Given the description of an element on the screen output the (x, y) to click on. 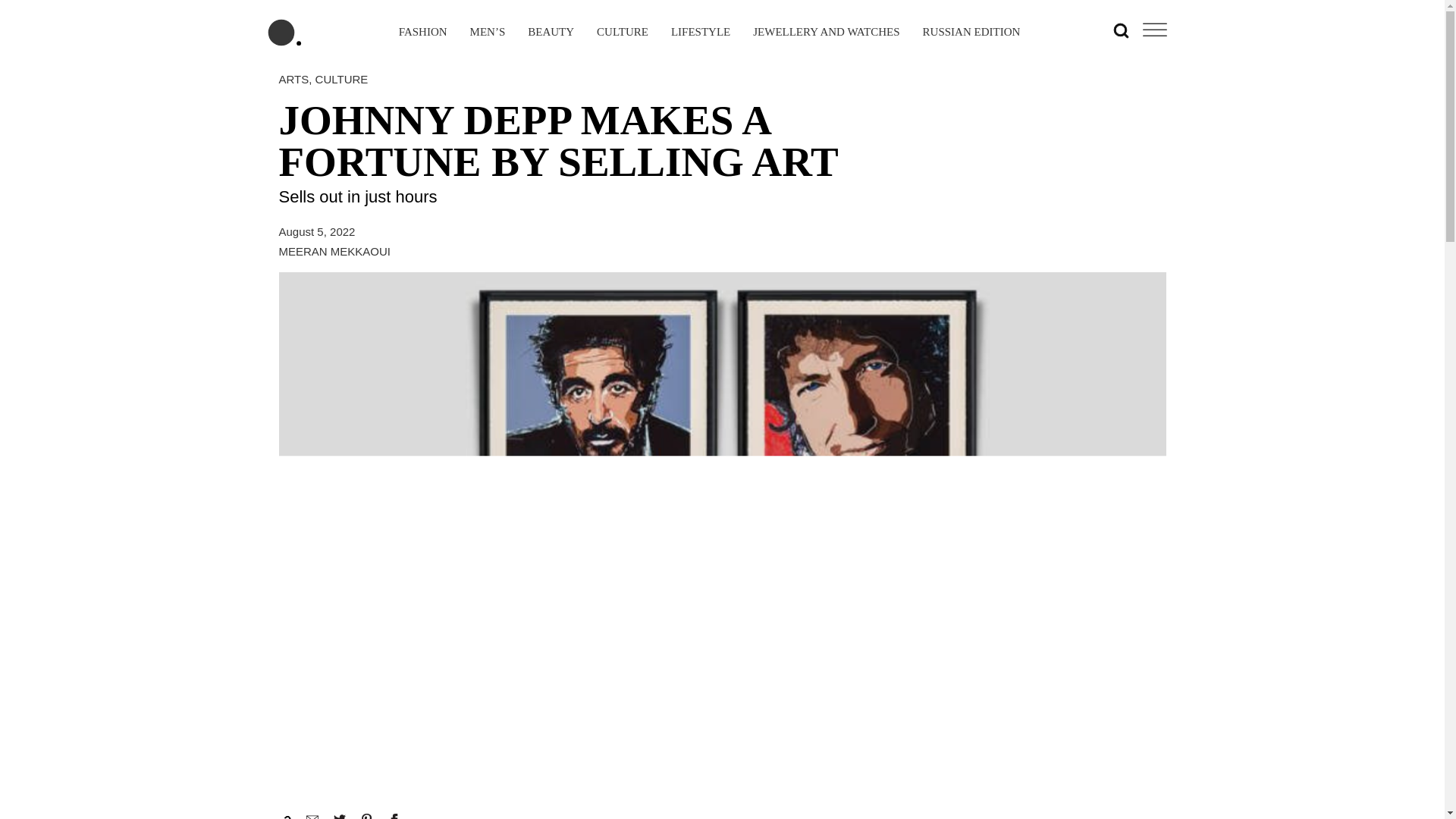
MEERAN MEKKAOUI (335, 250)
CULTURE (341, 78)
CULTURE (621, 32)
FASHION (422, 32)
ARTS (293, 78)
JEWELLERY AND WATCHES (825, 32)
LIFESTYLE (700, 32)
BEAUTY (550, 32)
